Given the description of an element on the screen output the (x, y) to click on. 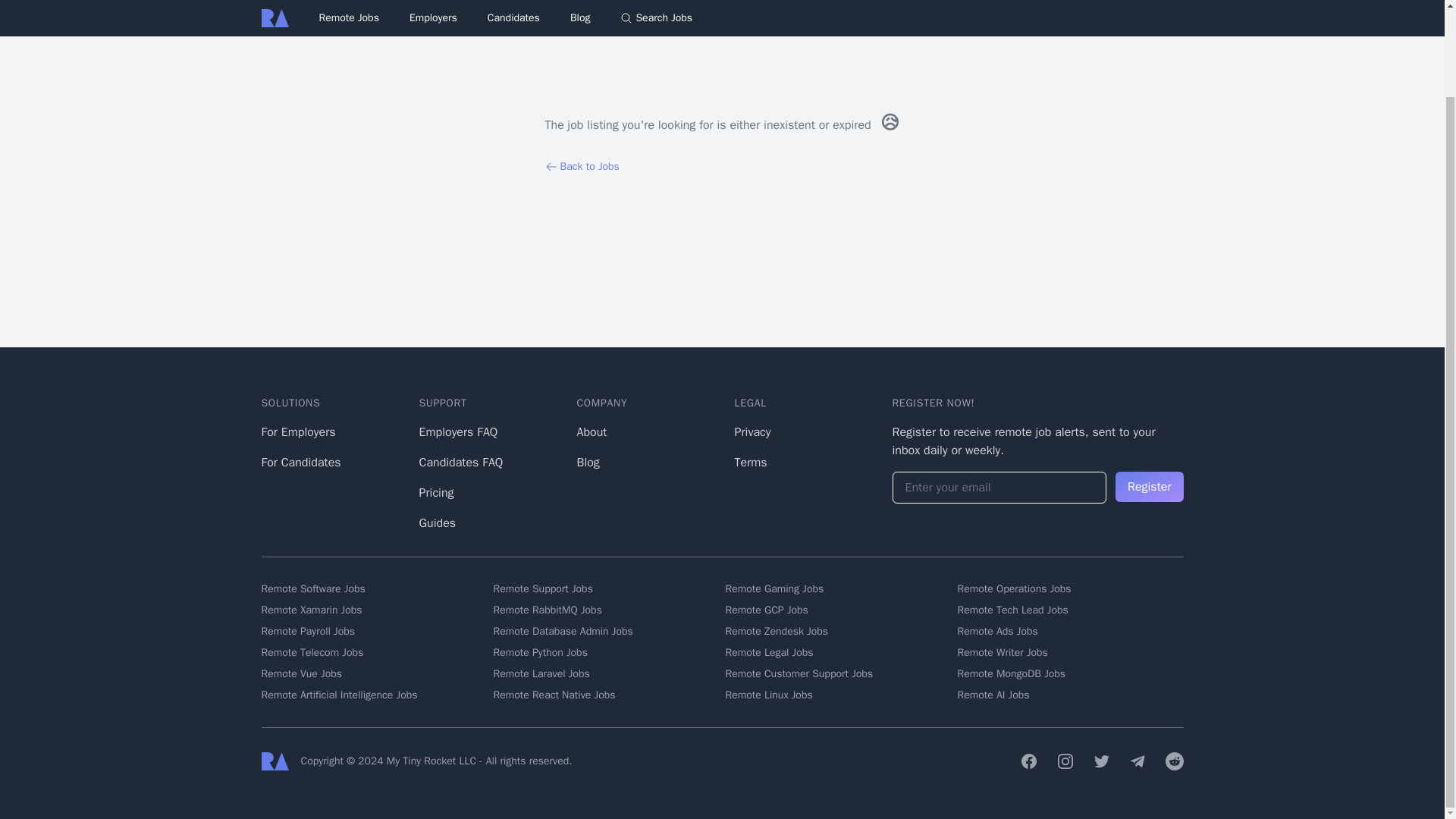
Join us on Facebook (1027, 761)
Remote Operations Jobs (1069, 589)
Back to Jobs (721, 166)
Remote Tech Lead Jobs (1069, 610)
Remote Software Jobs (373, 589)
About (591, 432)
Remote RabbitMQ Jobs (606, 610)
Privacy (751, 432)
Join our Telegram channel (1137, 761)
Join our Subreddit (1173, 761)
Remote Xamarin Jobs (373, 610)
Terms (750, 462)
Blog (587, 462)
Remote GCP Jobs (837, 610)
Register (1149, 486)
